Given the description of an element on the screen output the (x, y) to click on. 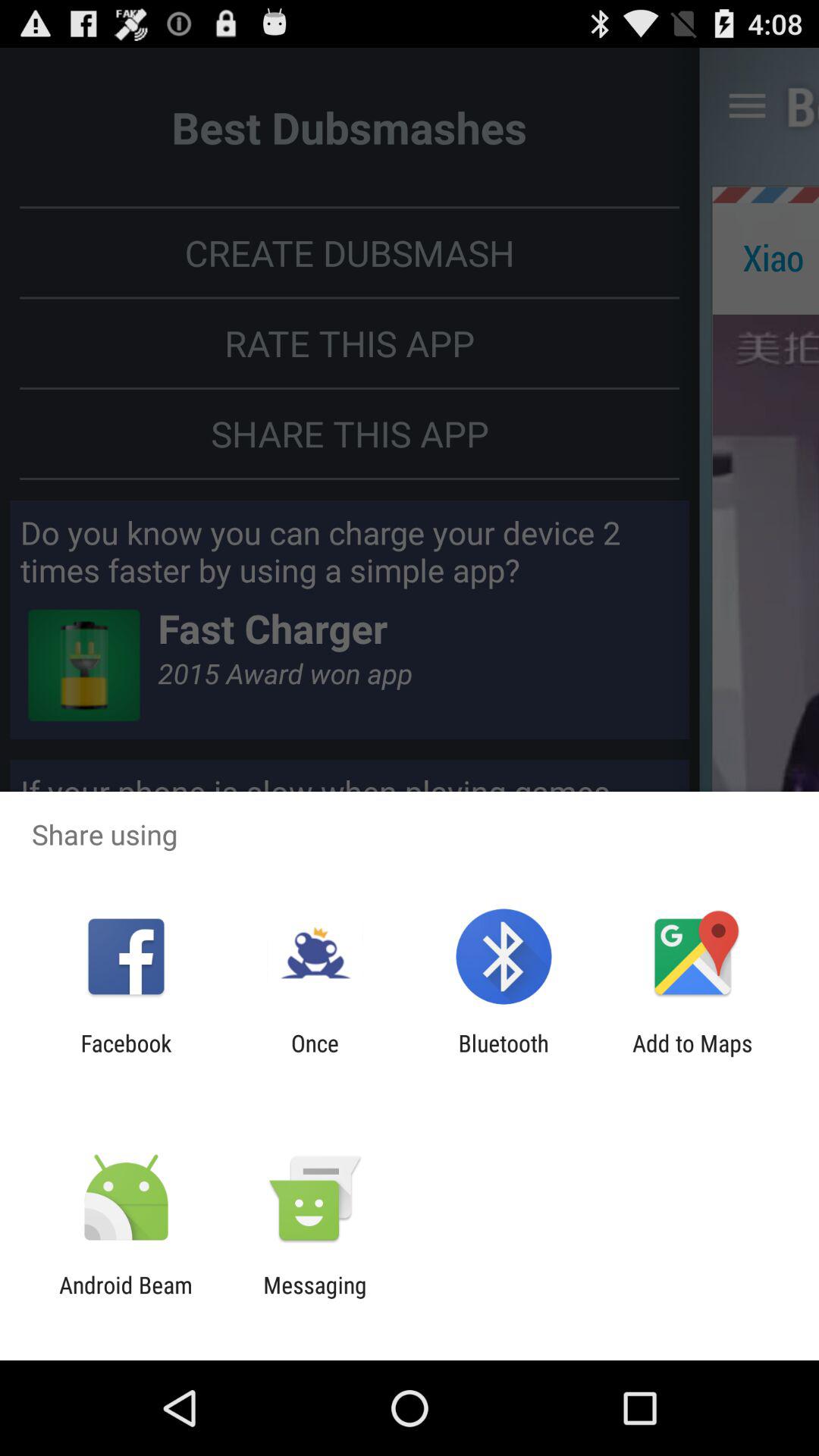
select the android beam icon (125, 1298)
